Given the description of an element on the screen output the (x, y) to click on. 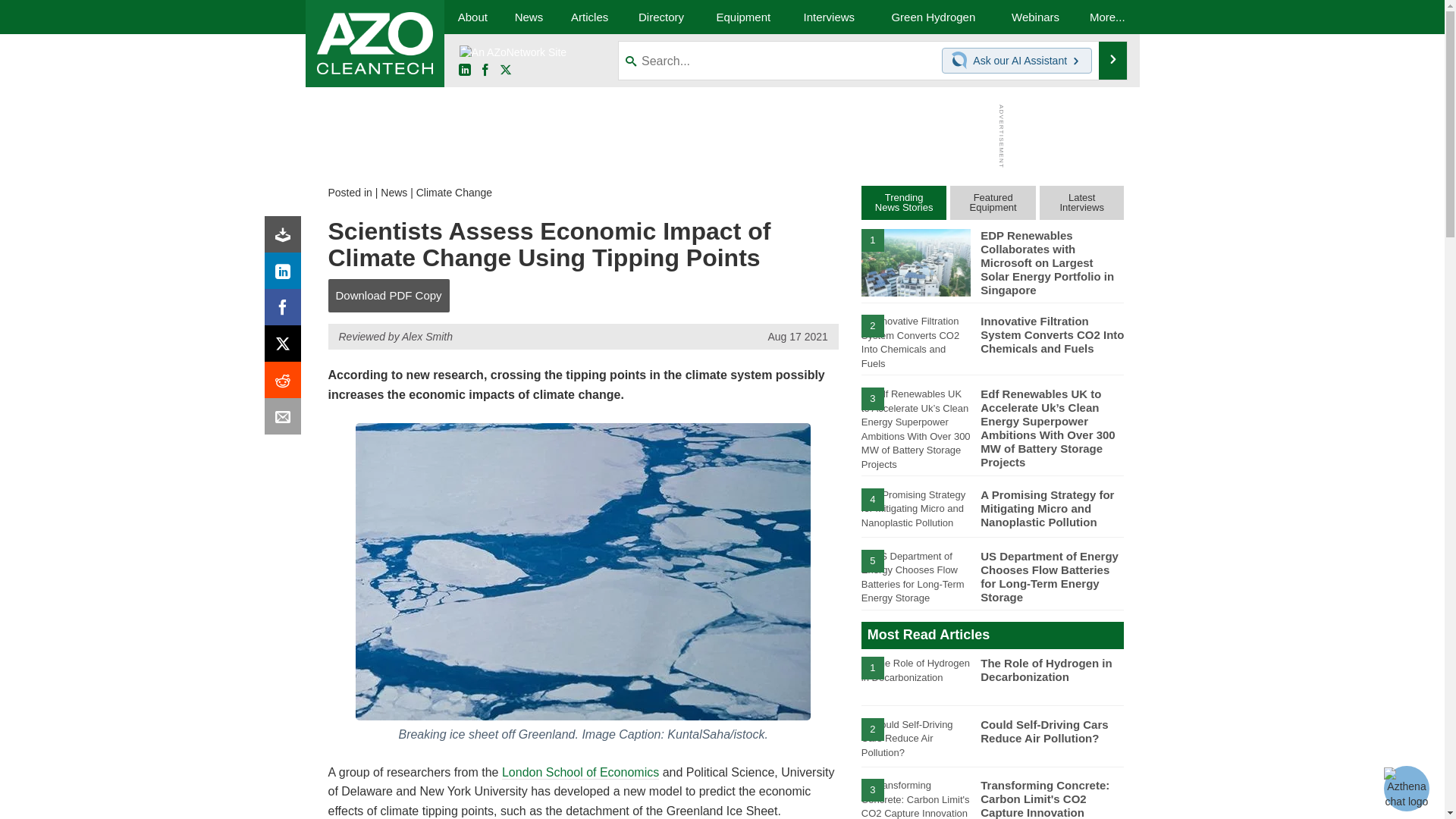
Download PDF copy (285, 238)
Directory (660, 17)
Facebook (285, 311)
LinkedIn (285, 275)
LinkedIn (464, 70)
News (528, 17)
X (505, 70)
News (393, 192)
More... (1106, 17)
